Given the description of an element on the screen output the (x, y) to click on. 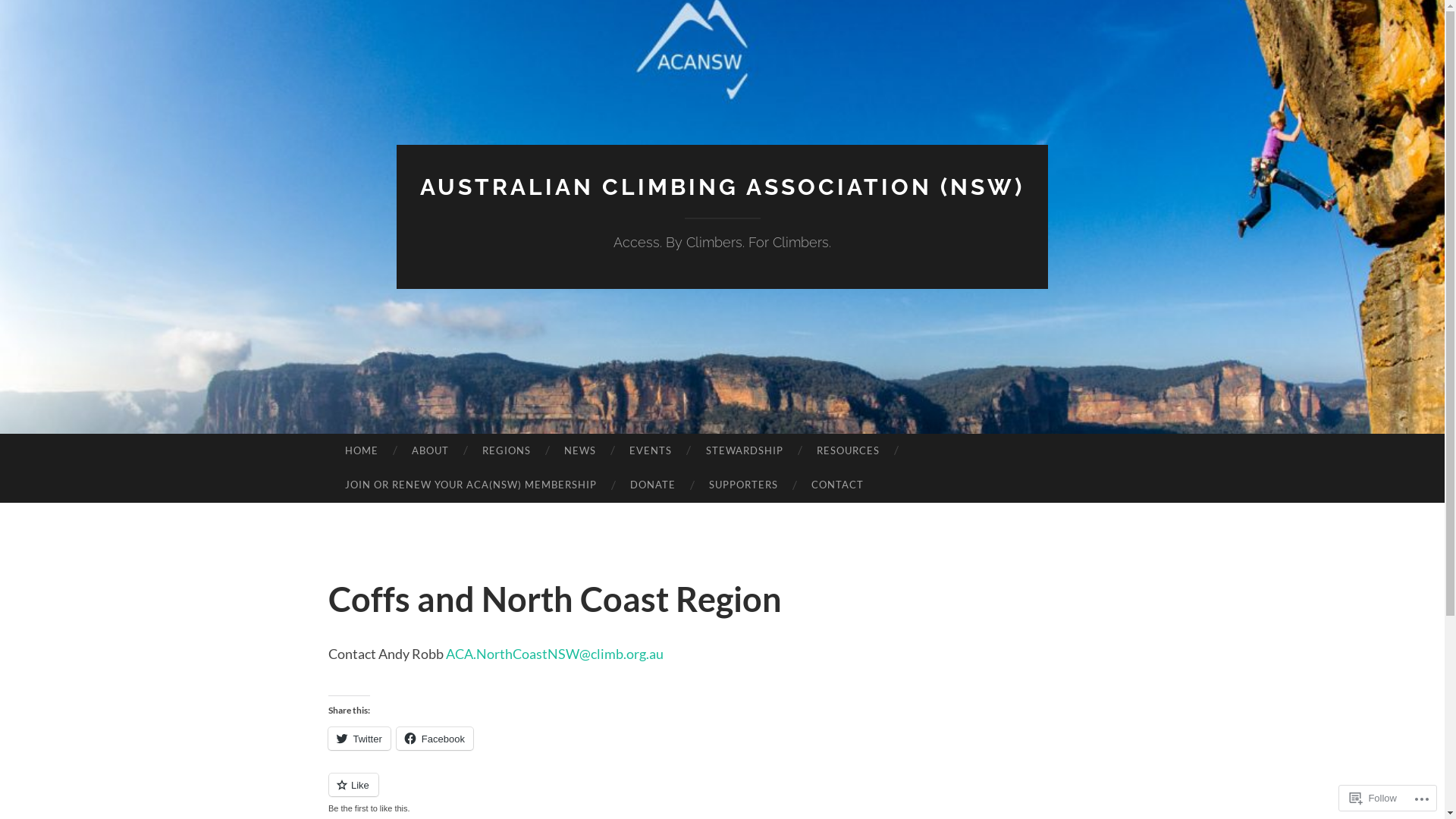
ABOUT Element type: text (430, 450)
SUPPORTERS Element type: text (743, 484)
Twitter Element type: text (358, 738)
CONTACT Element type: text (837, 484)
NEWS Element type: text (579, 450)
REGIONS Element type: text (506, 450)
JOIN OR RENEW YOUR ACA(NSW) MEMBERSHIP Element type: text (469, 484)
STEWARDSHIP Element type: text (743, 450)
AUSTRALIAN CLIMBING ASSOCIATION (NSW) Element type: text (722, 186)
Follow Element type: text (1372, 797)
RESOURCES Element type: text (848, 450)
ACA.NorthCoastNSW@climb.org.au Element type: text (554, 653)
EVENTS Element type: text (650, 450)
Like or Reblog Element type: hover (721, 793)
HOME Element type: text (360, 450)
Facebook Element type: text (434, 738)
DONATE Element type: text (652, 484)
